Given the description of an element on the screen output the (x, y) to click on. 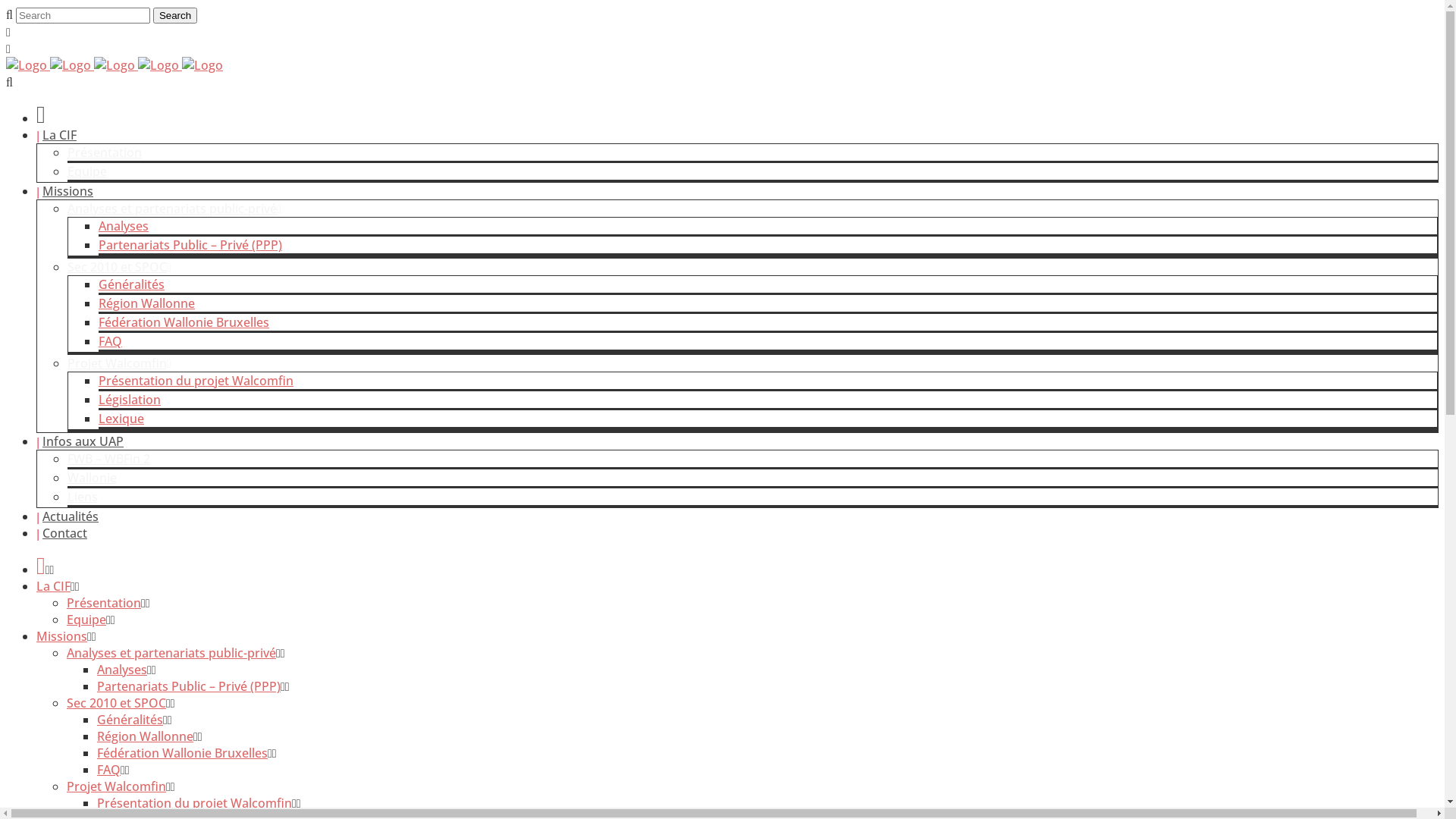
Contact Element type: text (64, 532)
La CIF Element type: text (59, 134)
Analyses Element type: text (123, 225)
Lexique Element type: text (121, 418)
Missions Element type: text (61, 635)
Infos aux UAP Element type: text (82, 441)
Equipe Element type: text (86, 619)
Wallonie Element type: text (91, 477)
La CIF Element type: text (53, 585)
Projet Walcomfin Element type: text (116, 786)
Sec 2010 et SPOC Element type: text (119, 266)
Search Element type: text (175, 15)
Missions Element type: text (67, 190)
Analyses Element type: text (122, 669)
Sec 2010 et SPOC Element type: text (116, 702)
Liens Element type: text (82, 496)
FAQ Element type: text (110, 340)
FAQ Element type: text (108, 769)
Projet Walcomfin Element type: text (119, 362)
Equipe Element type: text (86, 171)
